Given the description of an element on the screen output the (x, y) to click on. 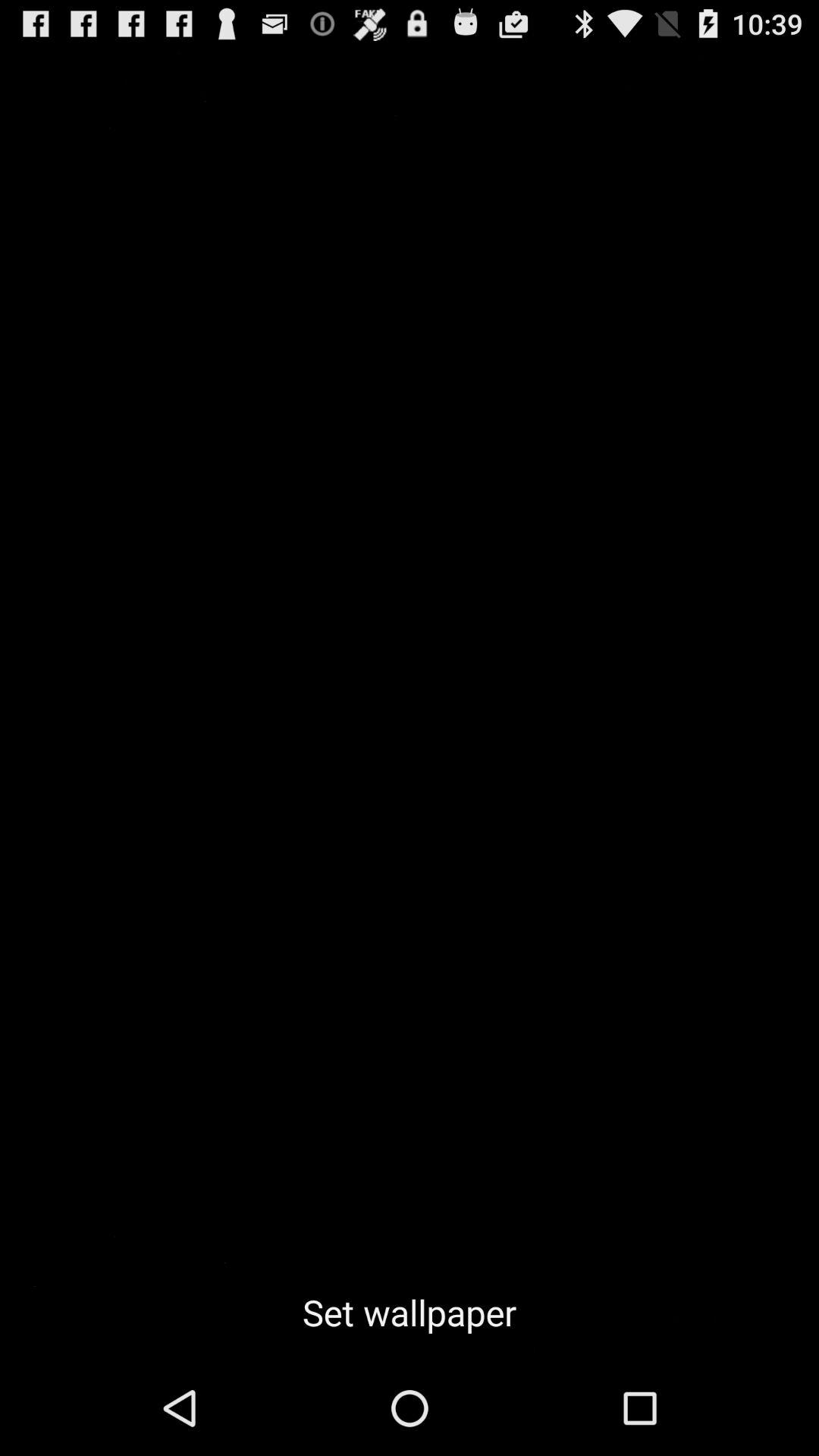
swipe until set wallpaper (409, 1312)
